Given the description of an element on the screen output the (x, y) to click on. 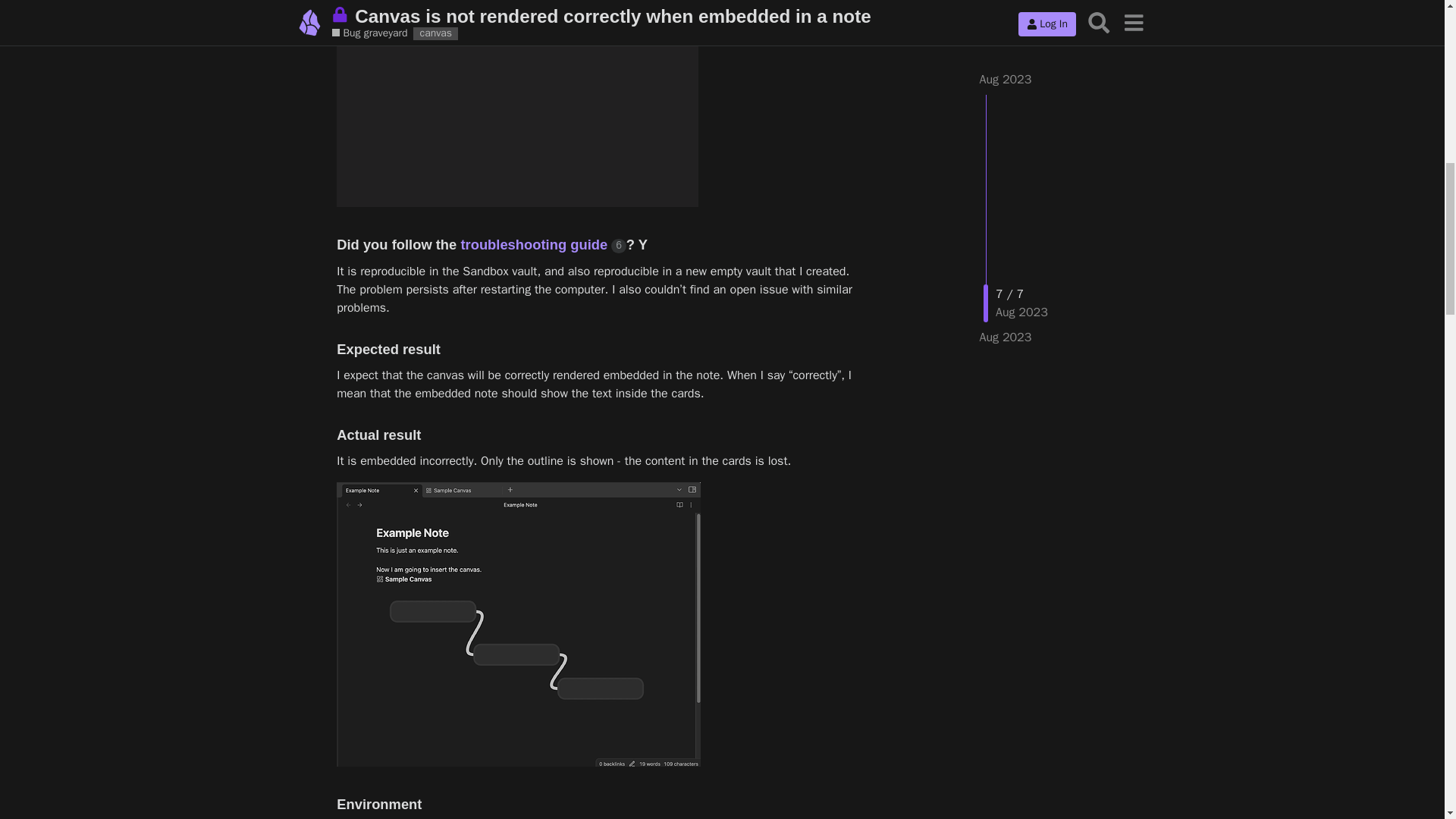
image (518, 624)
image (517, 103)
troubleshooting guide 6 (543, 244)
6 clicks (618, 245)
